Given the description of an element on the screen output the (x, y) to click on. 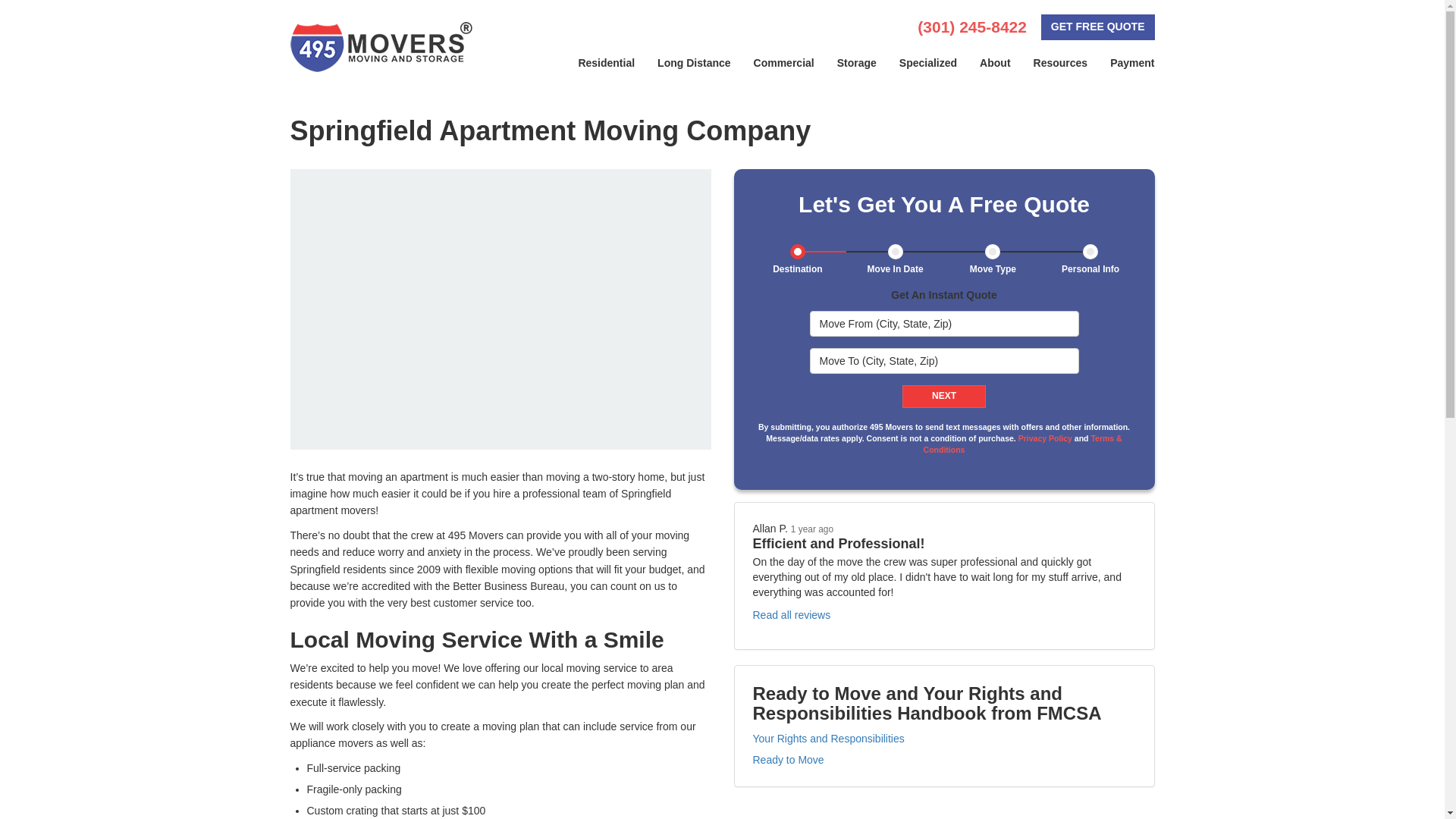
Apartment Move (499, 308)
About (995, 62)
Storage (856, 62)
GET FREE QUOTE (1097, 27)
Specialized (928, 62)
Long Distance (693, 62)
Resources (1060, 62)
Commercial (783, 62)
Residential (606, 62)
Payment (1132, 62)
GET FREE QUOTE (1097, 27)
